Given the description of an element on the screen output the (x, y) to click on. 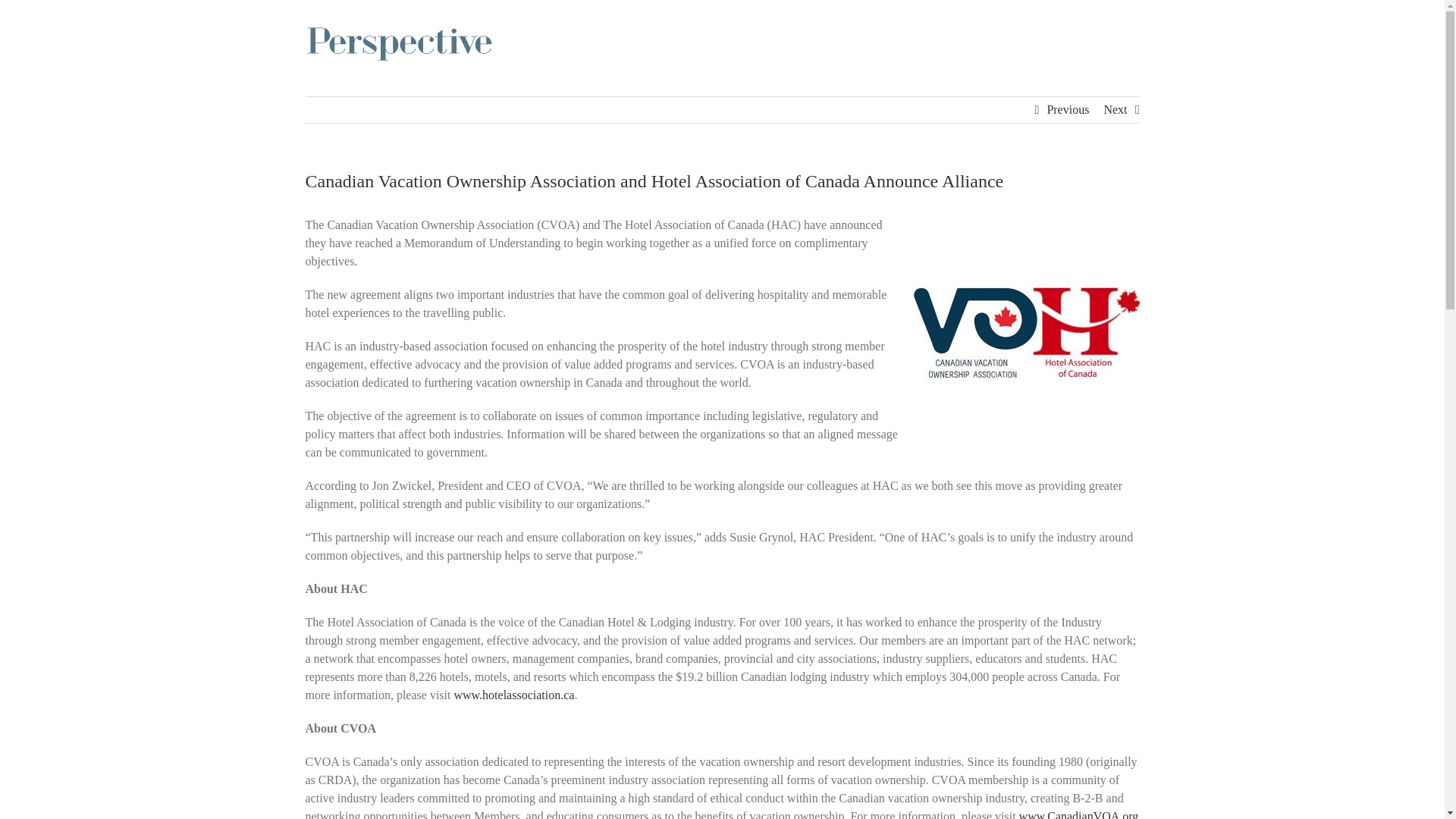
Previous (1067, 109)
www.CanadianVOA.org (1078, 814)
Next (1114, 109)
www.hotelassociation.ca (512, 694)
